Given the description of an element on the screen output the (x, y) to click on. 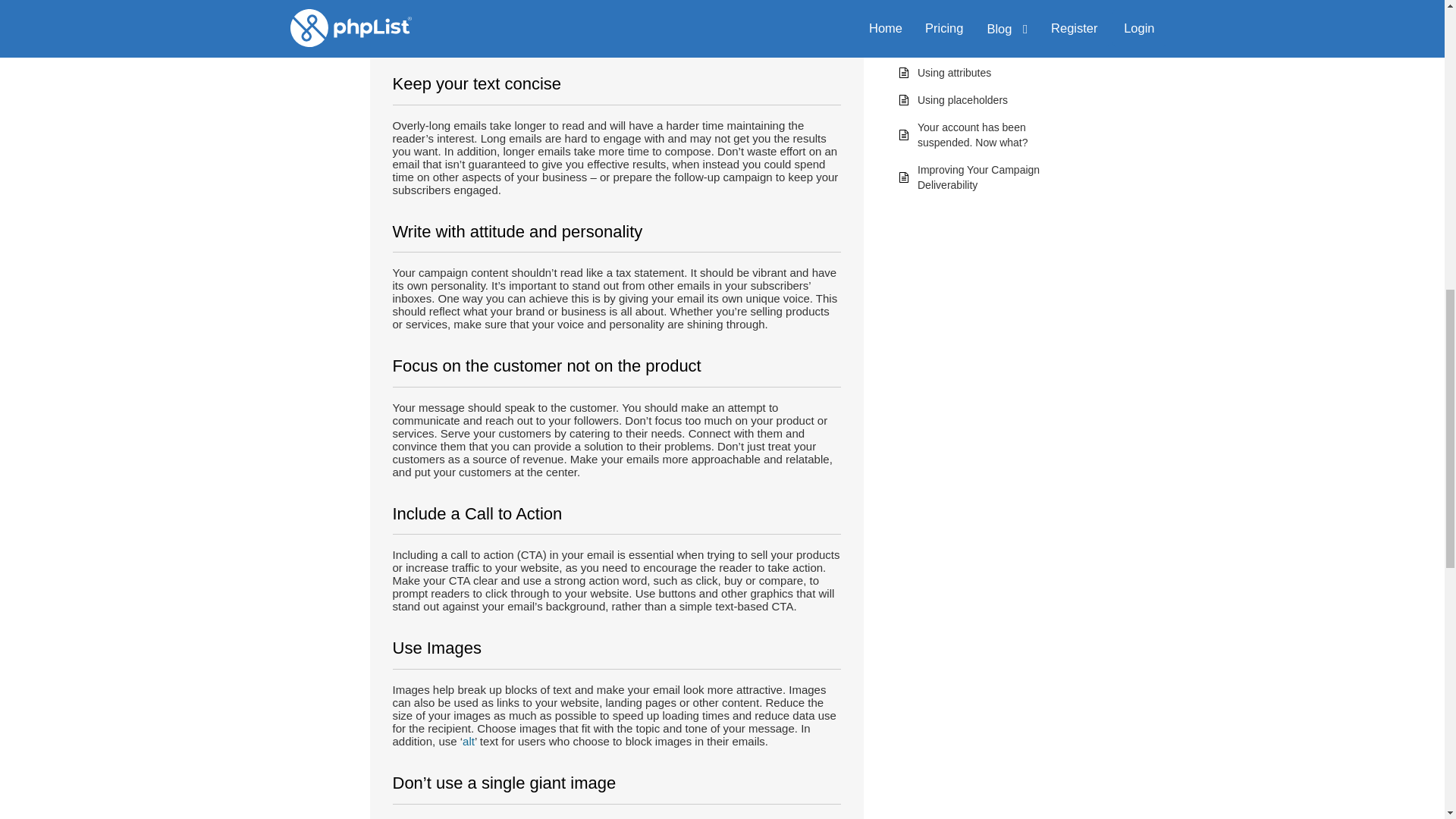
Your account has been suspended. Now what? (972, 134)
Improving Your Campaign Deliverability (978, 176)
Configuration of reCAPTCHA V3 plugin (993, 37)
Using attributes (954, 72)
Configuration of reCAPTCHA V3 plugin (993, 37)
Using placeholders (962, 100)
alt (468, 740)
Using attributes (954, 72)
Using placeholders (962, 100)
Your account has been suspended. Now what? (972, 134)
